Given the description of an element on the screen output the (x, y) to click on. 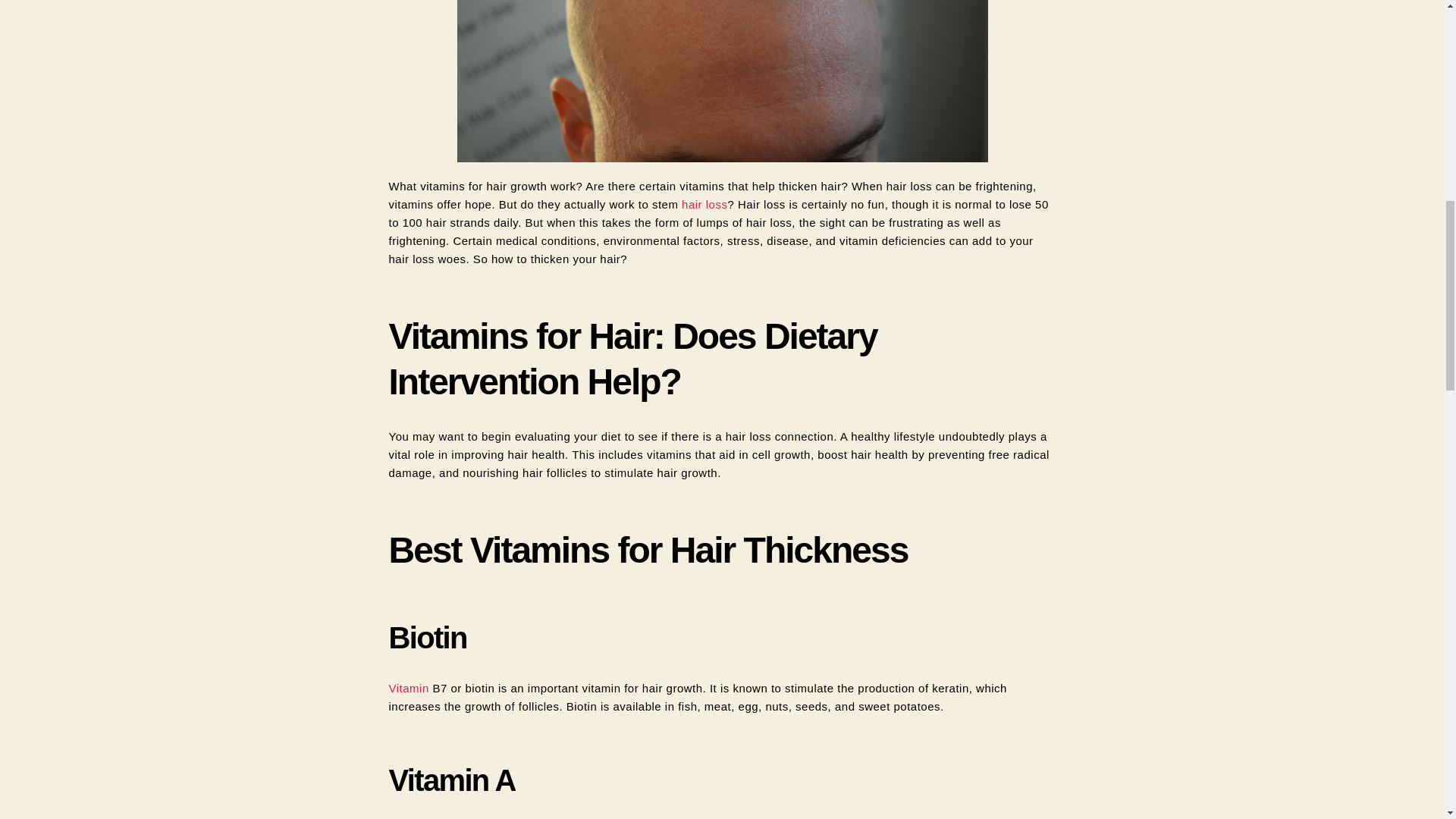
Vitamin (410, 687)
hair loss (703, 204)
